Given the description of an element on the screen output the (x, y) to click on. 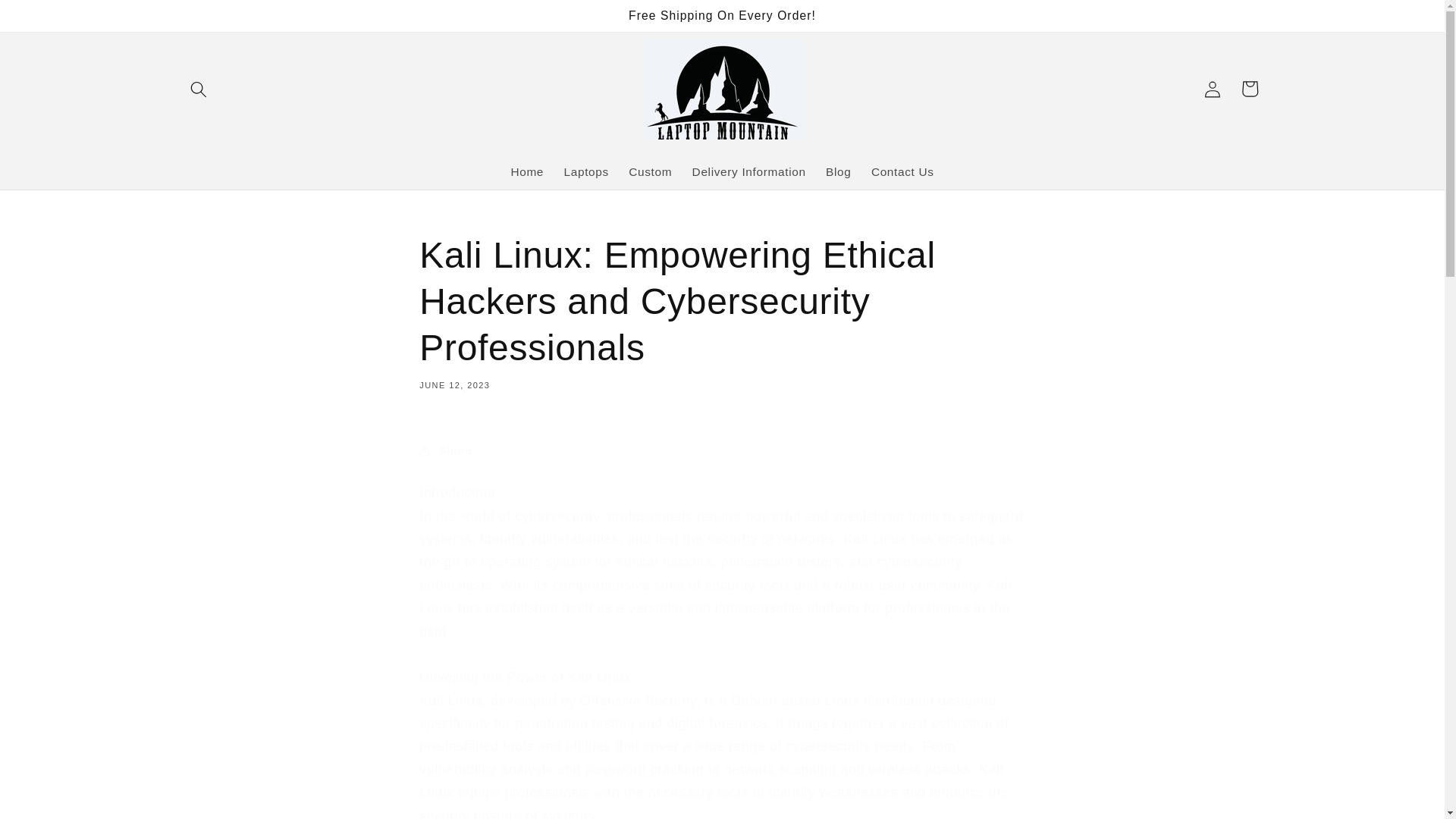
Home (526, 171)
Laptops (585, 171)
Custom (649, 171)
Skip to content (50, 19)
Blog (838, 171)
Delivery Information (748, 171)
Share (722, 450)
Log in (1211, 88)
Cart (1249, 88)
Contact Us (902, 171)
